Given the description of an element on the screen output the (x, y) to click on. 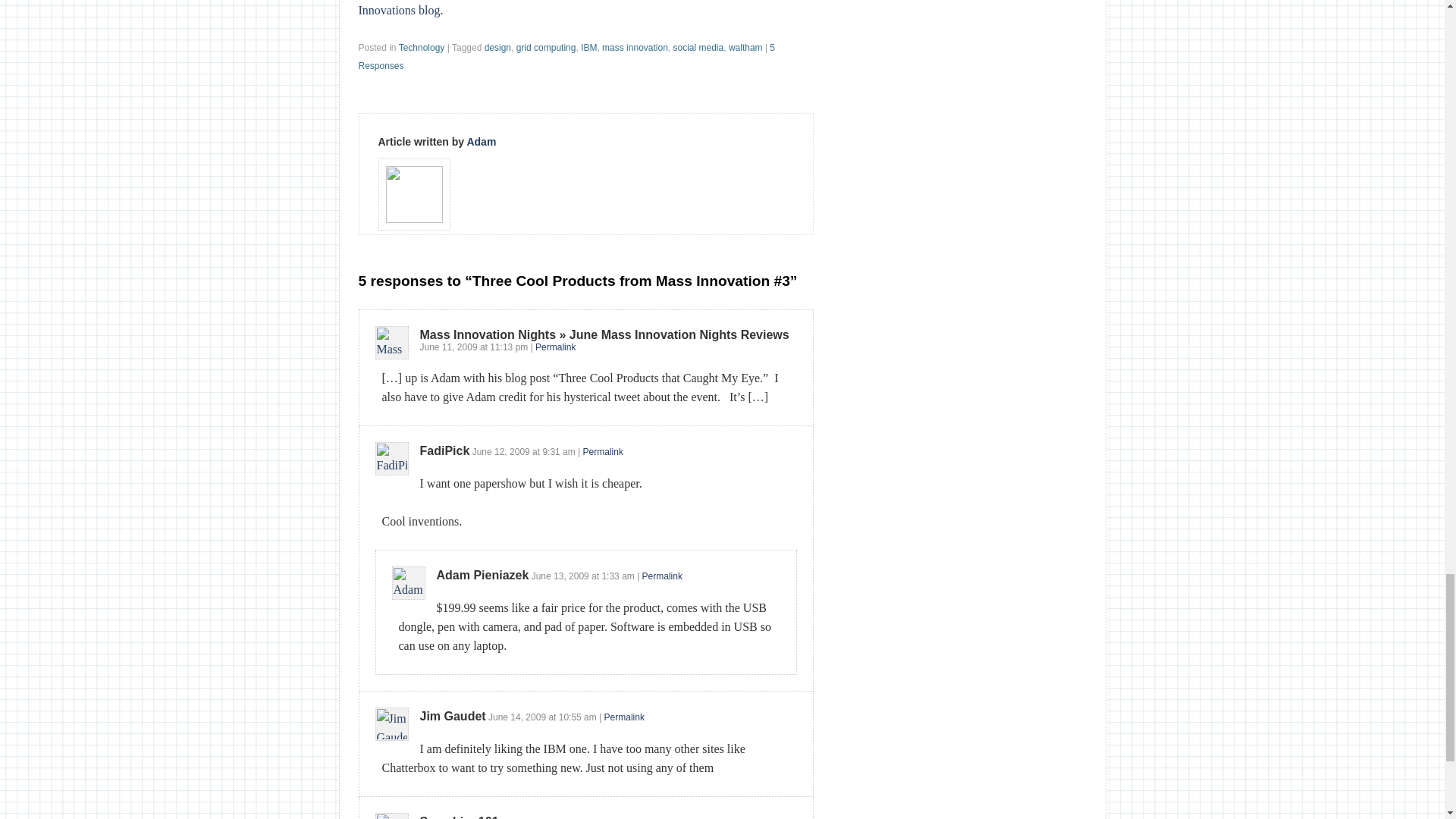
grid computing (546, 47)
Permalink (662, 575)
FadiPick (445, 450)
design (497, 47)
mass innovation (635, 47)
social media (697, 47)
Permalink (624, 716)
Permalink to comment 30773 (555, 347)
Thursday, June 11th, 2009, 11:13 pm (448, 347)
5 Responses (566, 56)
Adam Pieniazek (482, 574)
Permalink (555, 347)
Thursday, June 11th, 2009, 11:13 pm (508, 347)
wrap-up post from the Mass Innovations blog (569, 8)
Adam (480, 141)
